Given the description of an element on the screen output the (x, y) to click on. 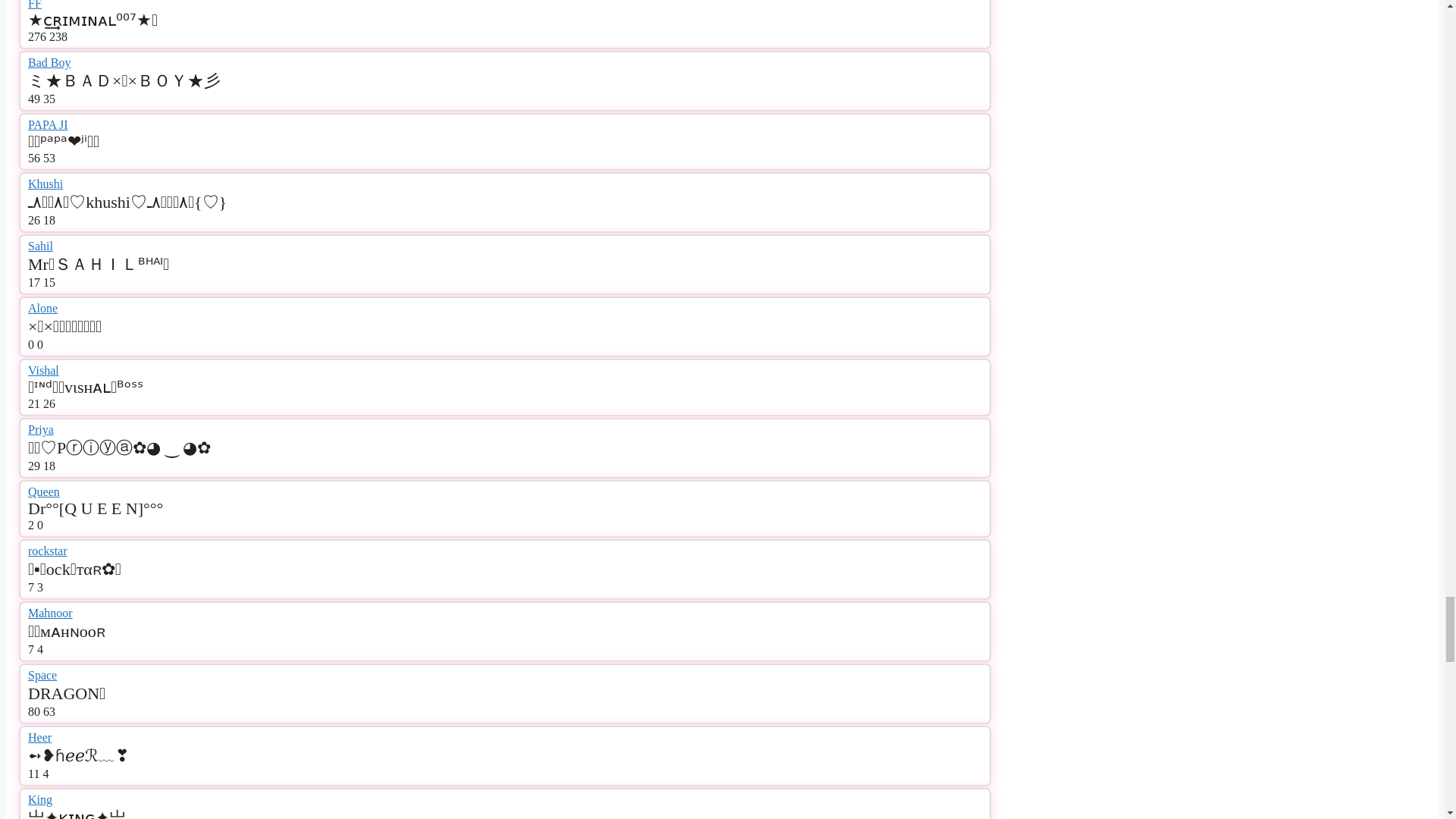
Votes down (49, 98)
Votes down (49, 157)
Votes up (33, 465)
Votes down (49, 219)
Queen (43, 491)
Votes up (36, 36)
Votes down (49, 403)
Votes down (49, 282)
Khushi (44, 183)
FF (34, 4)
